Given the description of an element on the screen output the (x, y) to click on. 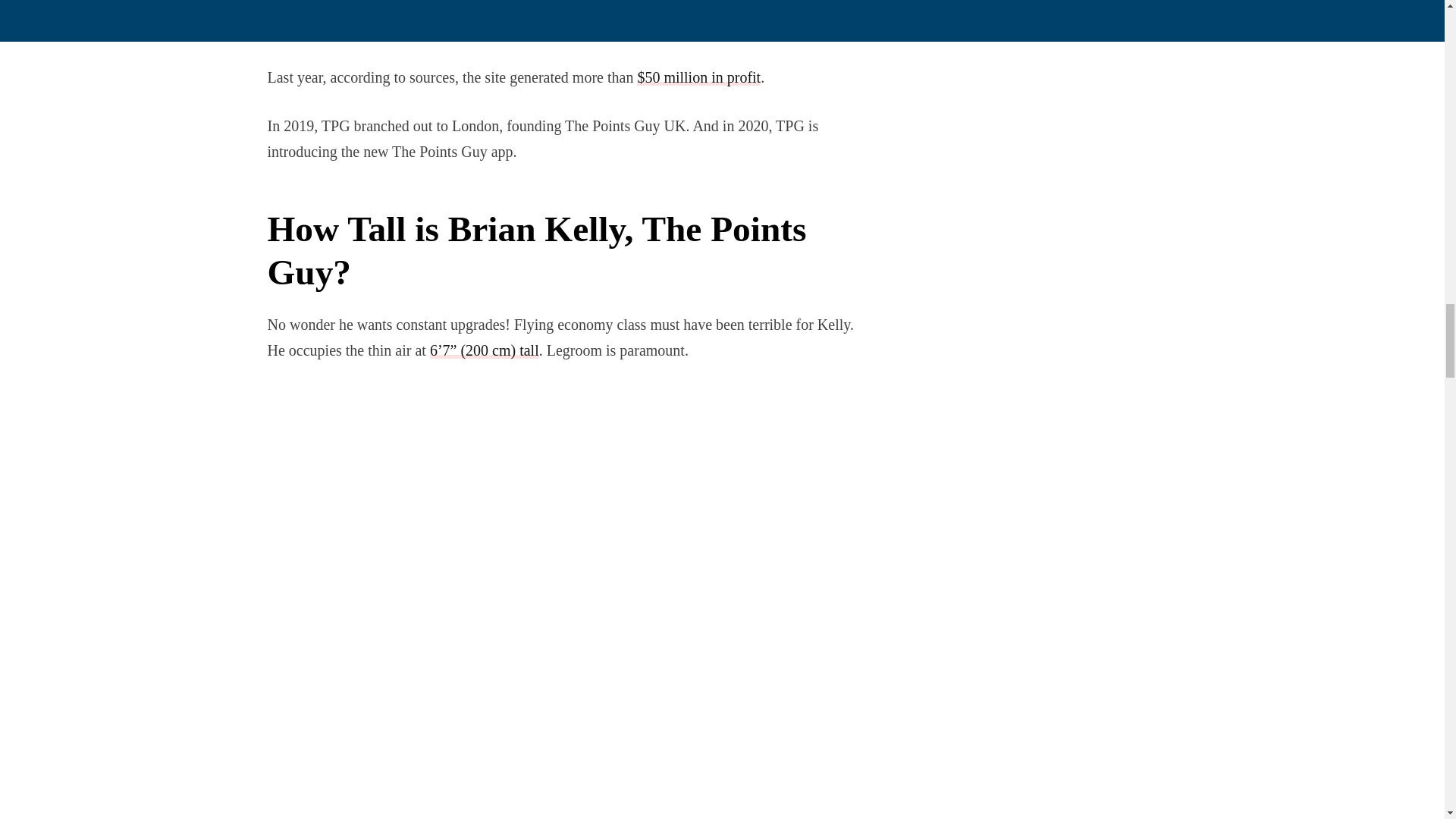
Red Ventures bought Bankrate (720, 28)
